Given the description of an element on the screen output the (x, y) to click on. 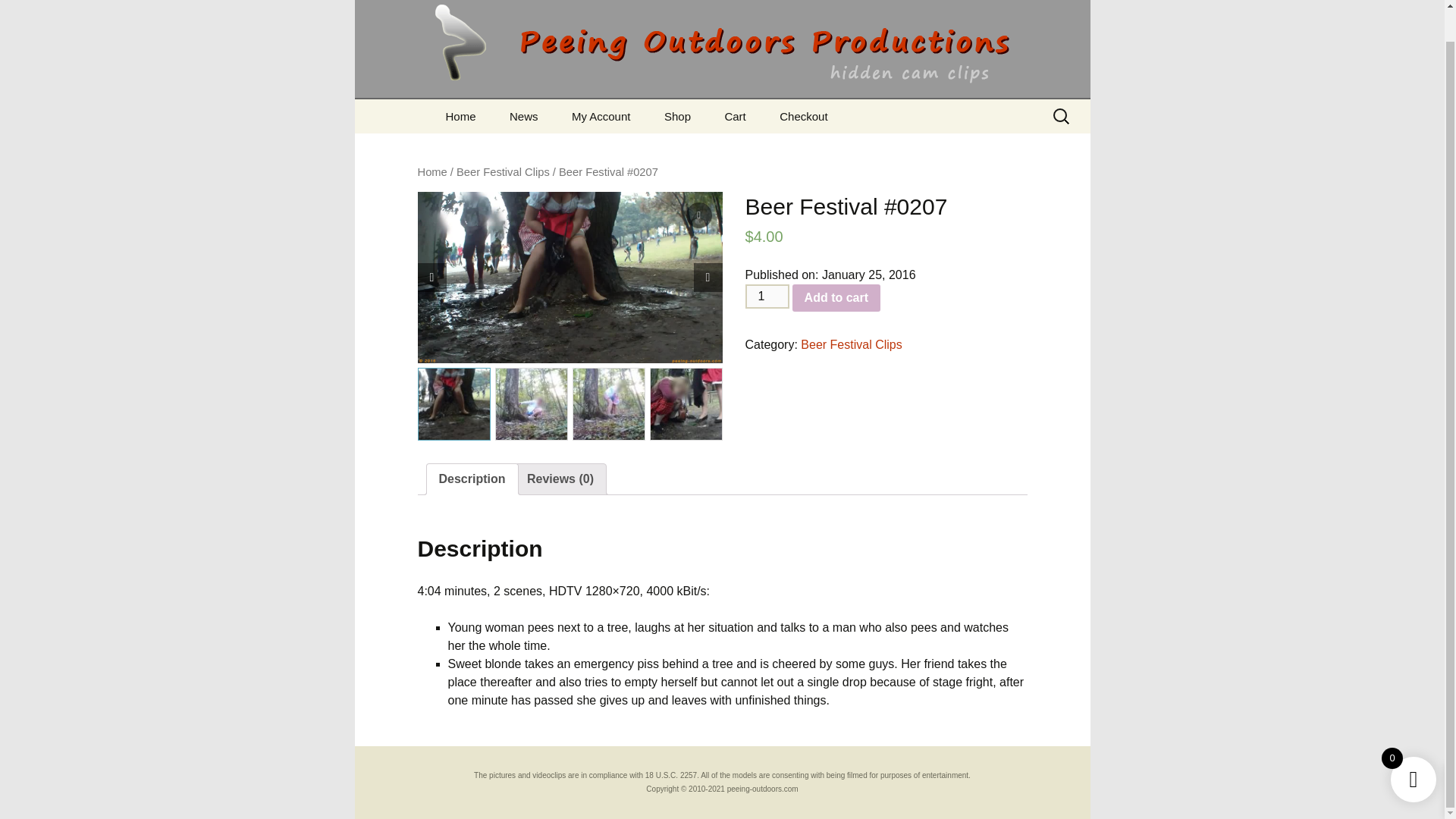
Shop (677, 116)
Beer Festival Clips (503, 172)
Peeing Outdoors Productions (722, 49)
Description (471, 479)
1 (766, 296)
Register (631, 150)
Peeing Outdoors Productions (722, 49)
News (524, 116)
My Account (601, 116)
Beer Festival Clips (850, 344)
Checkout (803, 116)
Cart (734, 116)
Home (431, 172)
